Given the description of an element on the screen output the (x, y) to click on. 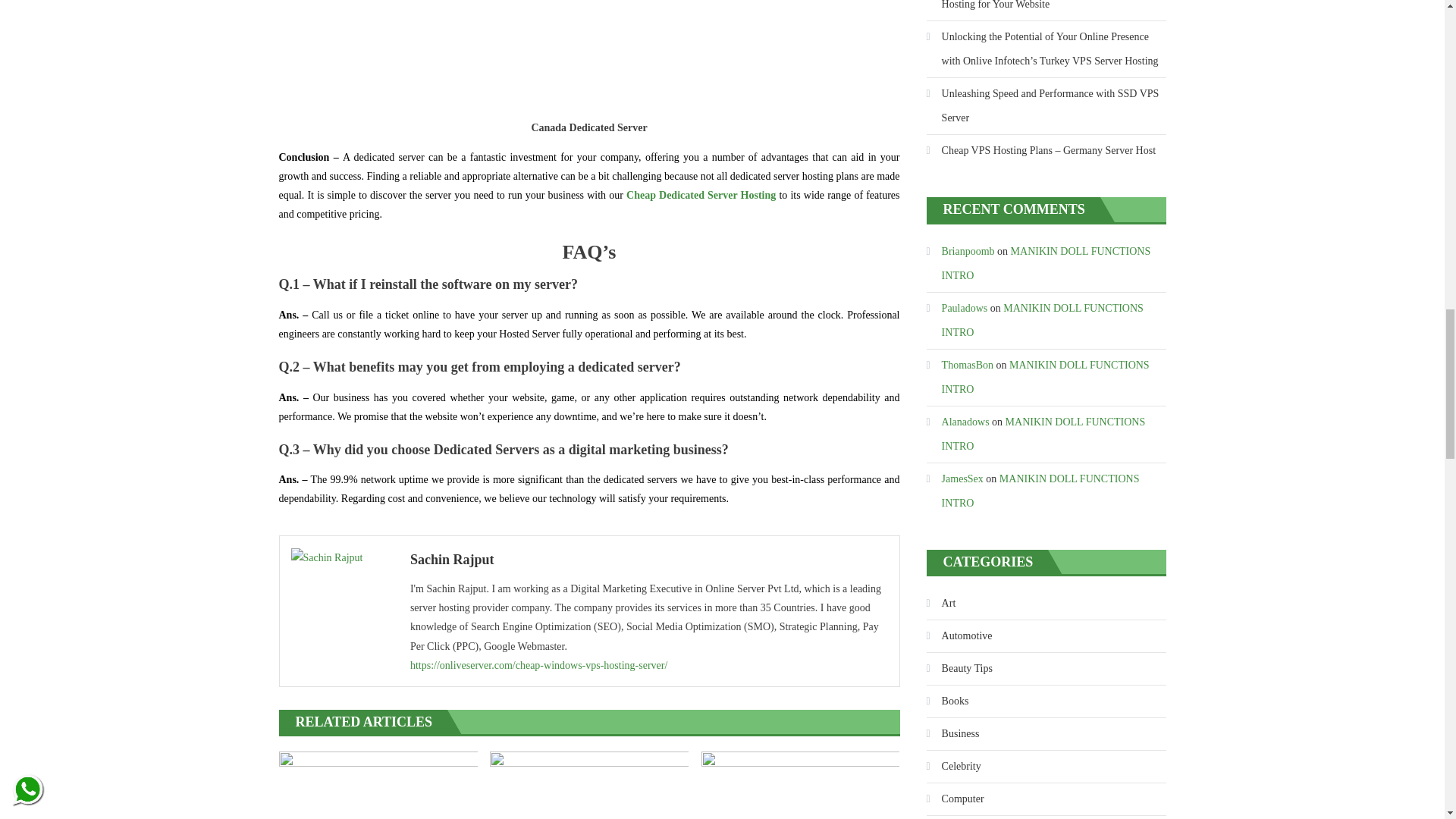
Mobile Monitoring Apps: Balancing Privacy and Safety (378, 785)
Common MacBook Pro Wi-Fi Problems (800, 785)
